Given the description of an element on the screen output the (x, y) to click on. 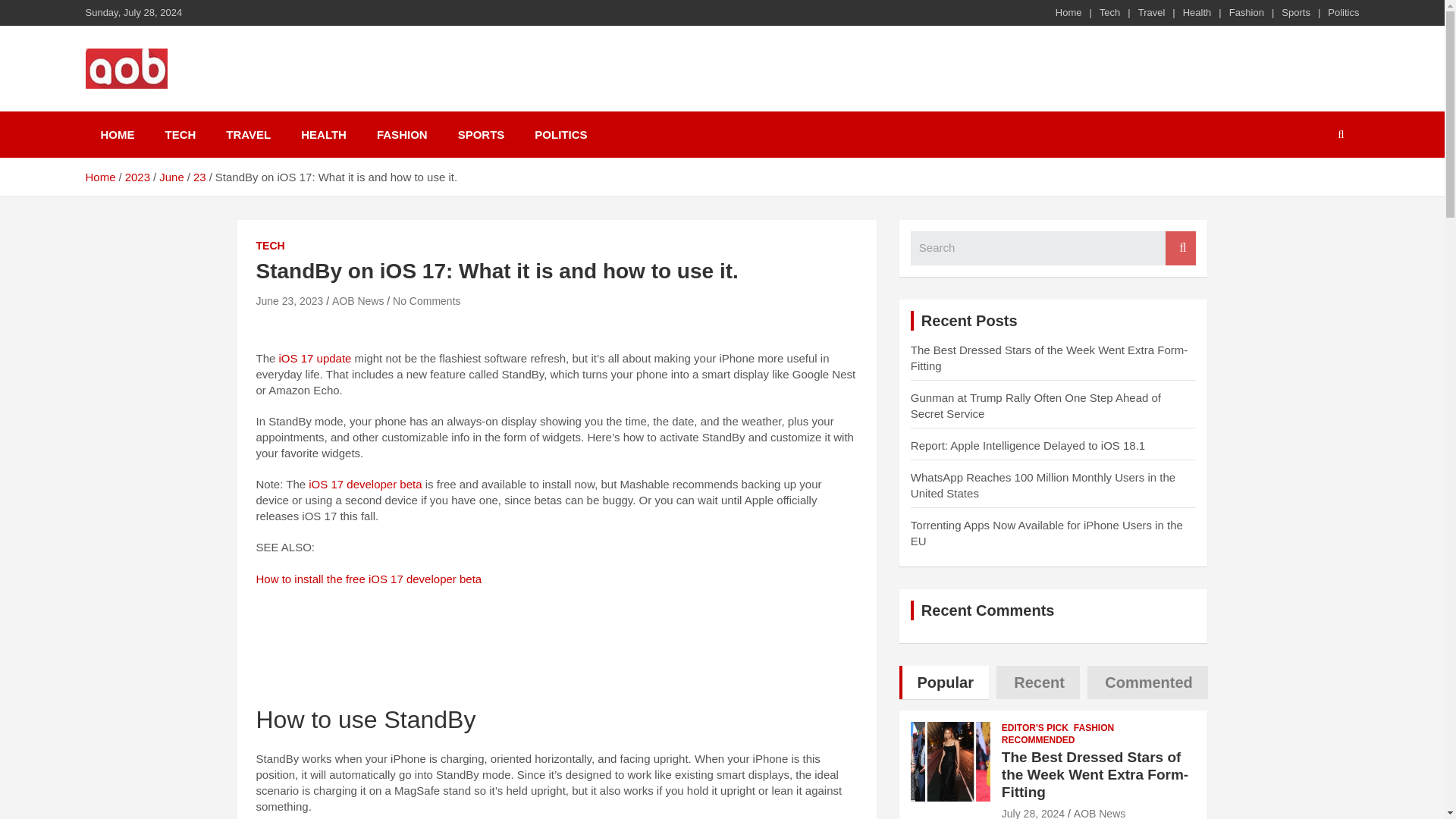
TECH (180, 134)
June 23, 2023 (289, 300)
HOME (116, 134)
No Comments (426, 300)
23 (199, 176)
AOB News (357, 300)
iOS 17 update (315, 358)
Fashion (1245, 12)
Health (1196, 12)
AOB News (162, 108)
Home (99, 176)
Report: Apple Intelligence Delayed to iOS 18.1 (1027, 445)
Tech (1109, 12)
Search (1180, 247)
Sports (1295, 12)
